Given the description of an element on the screen output the (x, y) to click on. 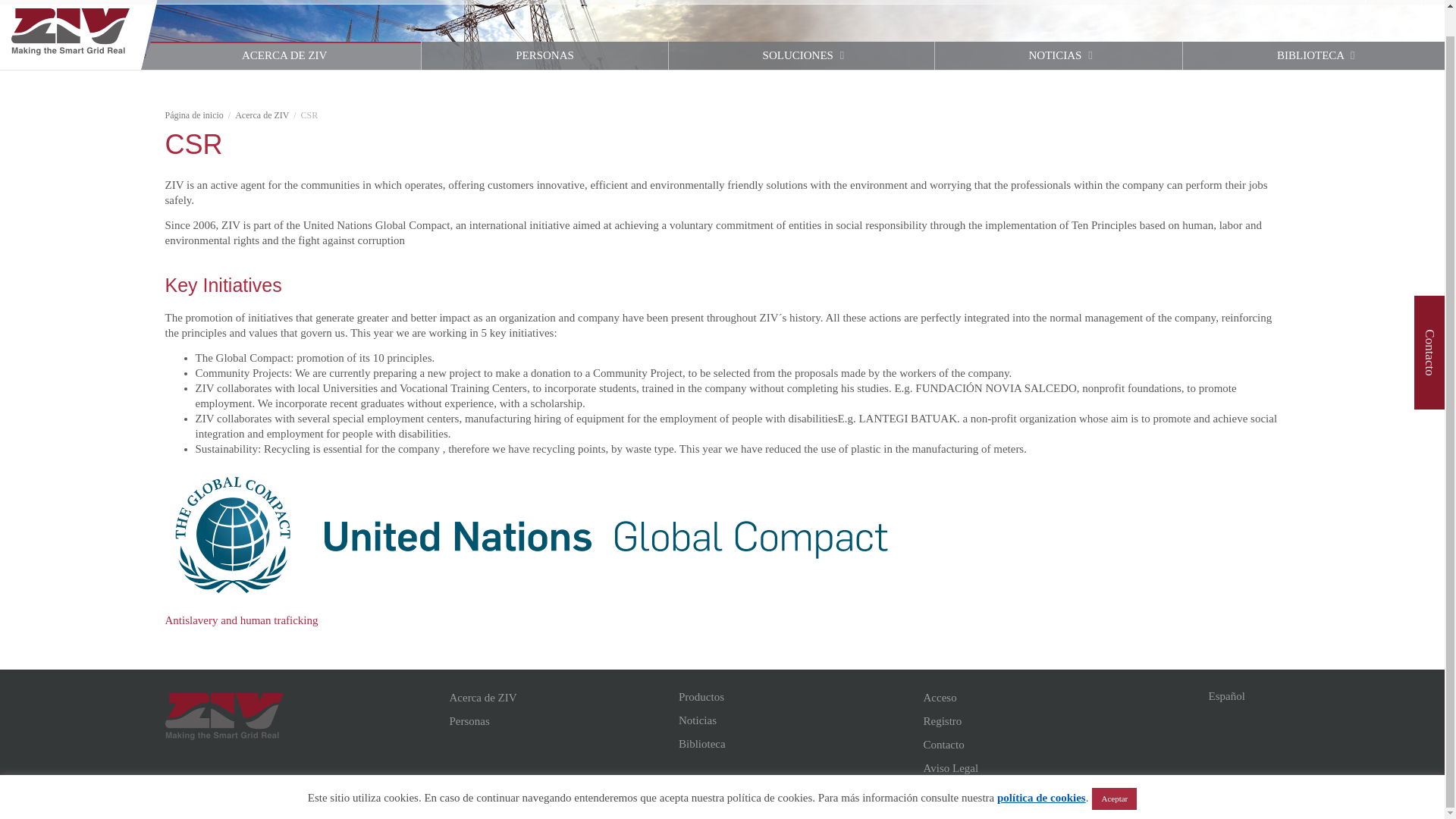
Contacto (1336, 2)
BIBLIOTECA (1313, 55)
Acerca de ZIV (559, 697)
Personas (559, 721)
Registro (1280, 2)
Acceso (1054, 697)
Biblioteca (789, 744)
NOTICIAS (1058, 55)
SOLUCIONES (801, 55)
Registro (1280, 2)
Soluciones (801, 55)
Acerca de ZIV (261, 114)
Acceso (1227, 2)
Contacto (1336, 2)
Acceso (1227, 2)
